Given the description of an element on the screen output the (x, y) to click on. 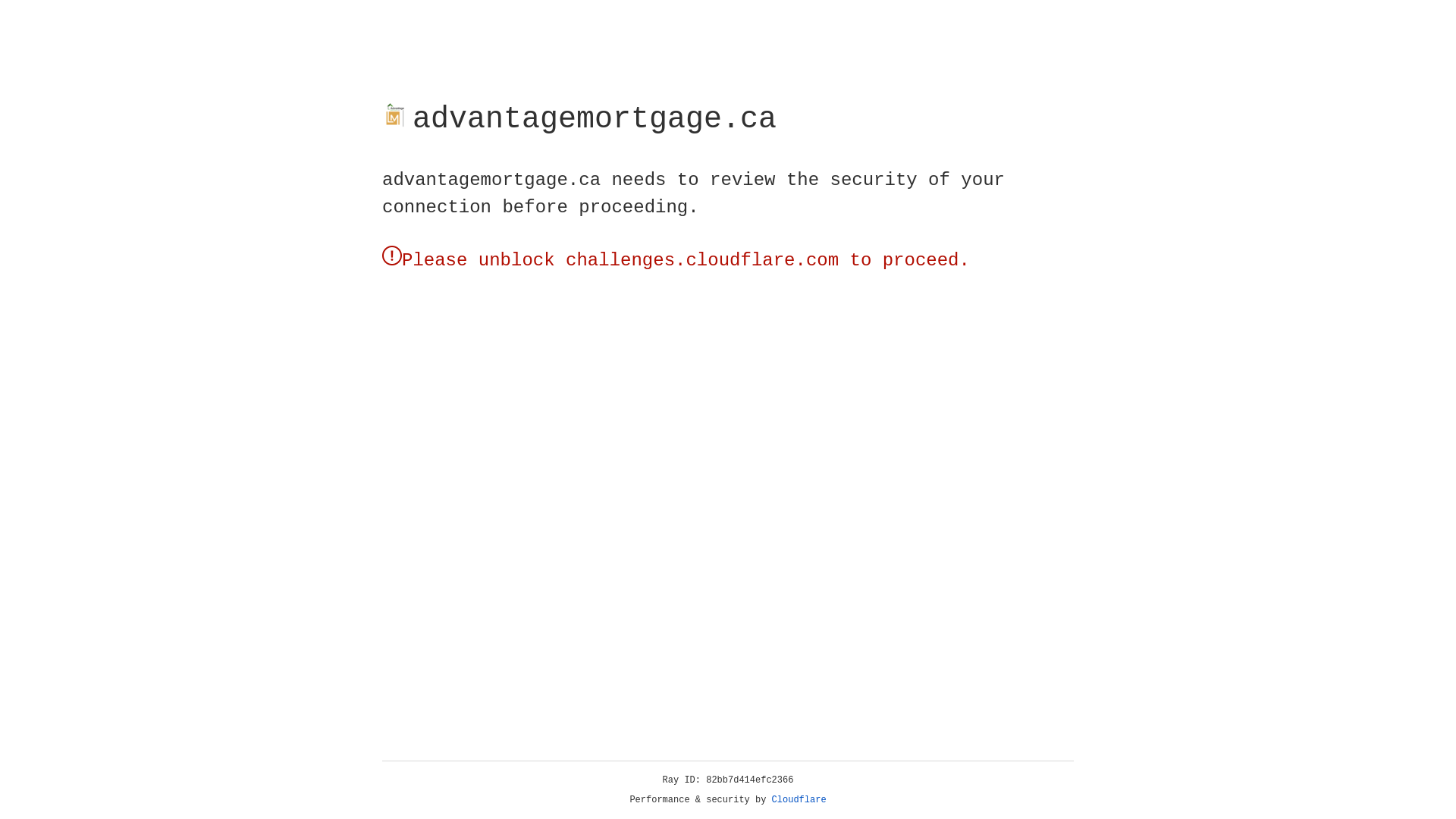
Cloudflare Element type: text (798, 799)
